Given the description of an element on the screen output the (x, y) to click on. 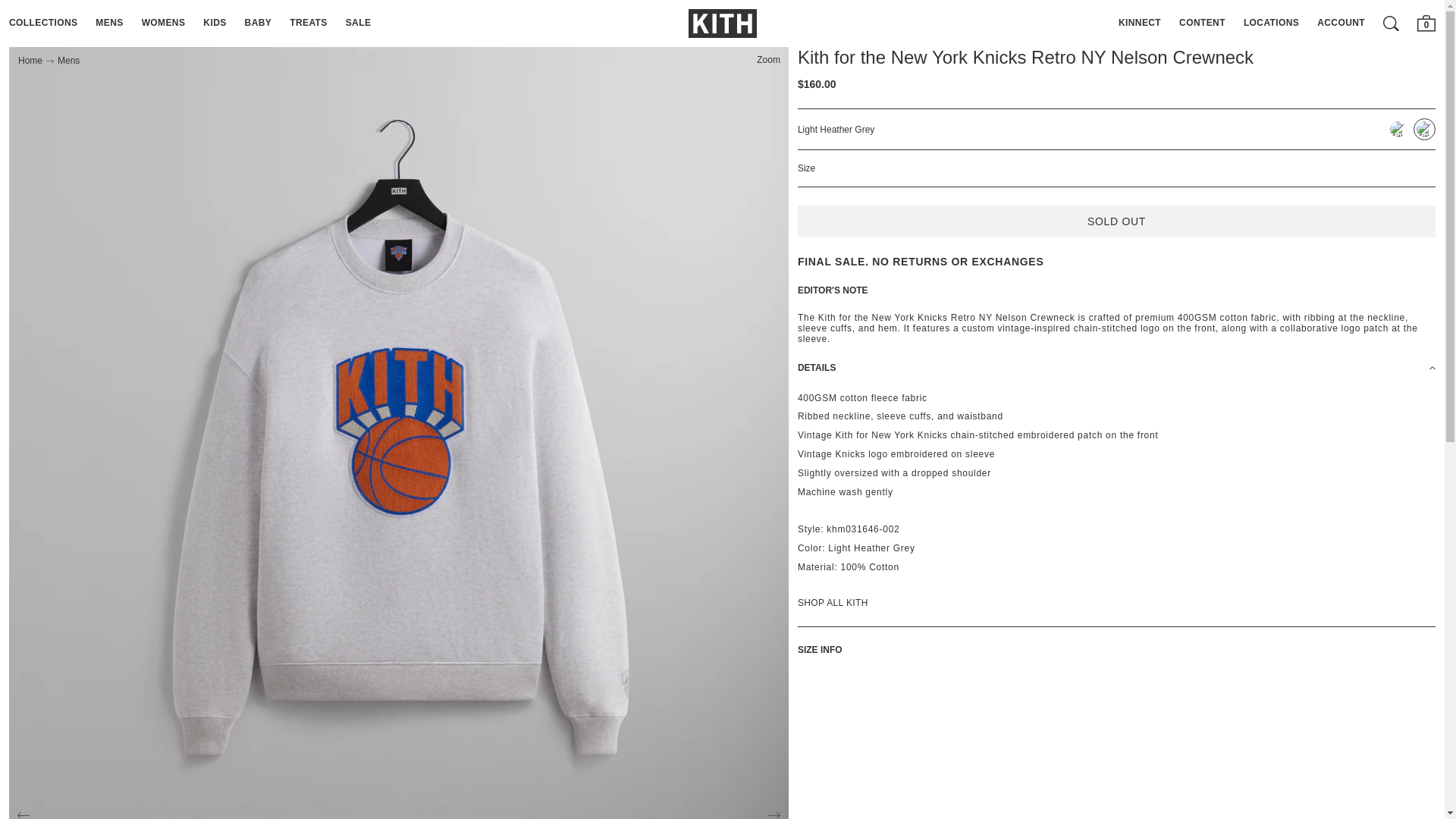
Kith (722, 23)
KITH LOGO (722, 23)
